Given the description of an element on the screen output the (x, y) to click on. 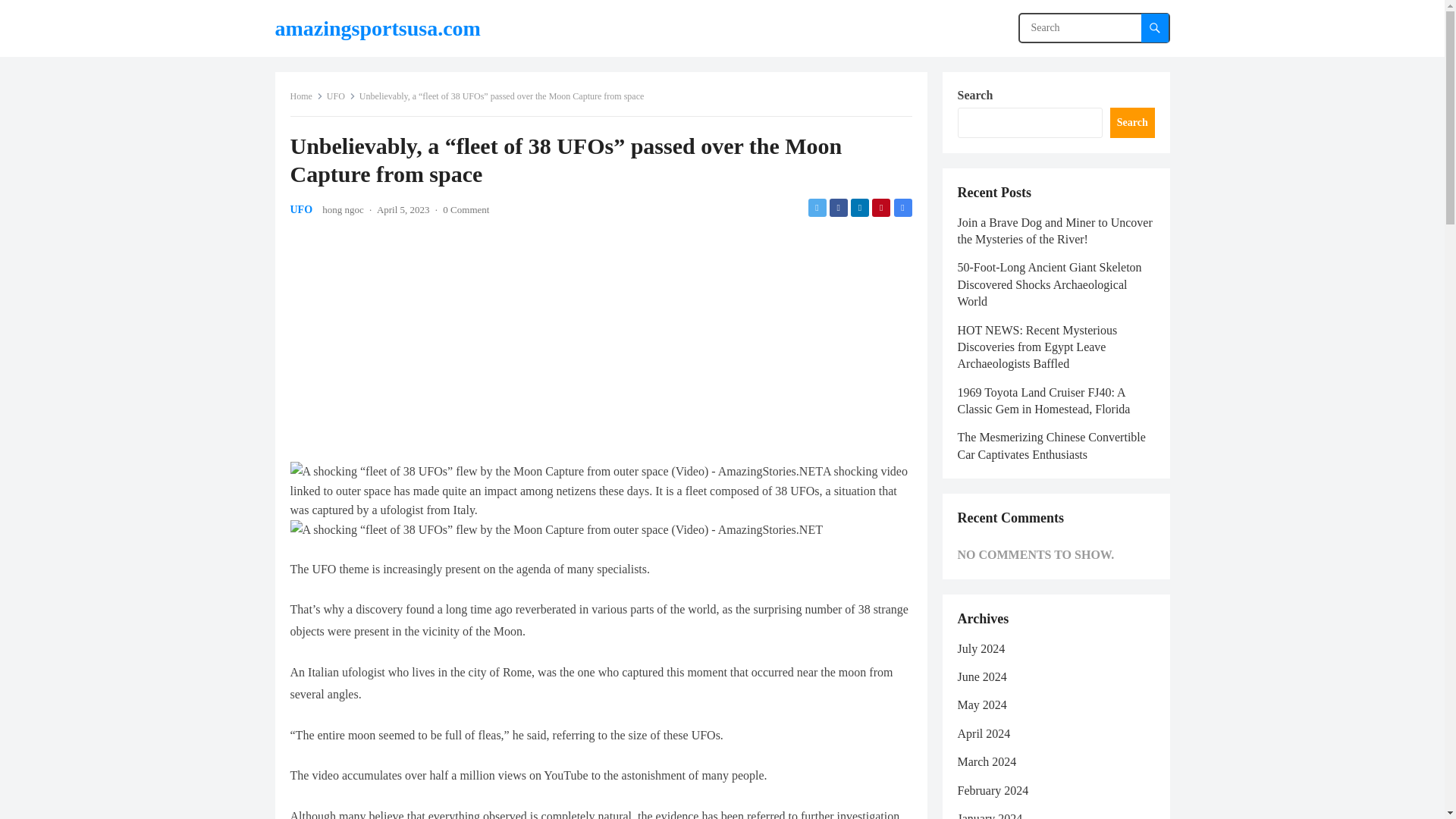
UFO (301, 209)
0 Comment (465, 209)
amazingsportsusa.com (377, 28)
hong ngoc (342, 209)
Posts by hong ngoc (342, 209)
Home (305, 95)
UFO (340, 95)
